Given the description of an element on the screen output the (x, y) to click on. 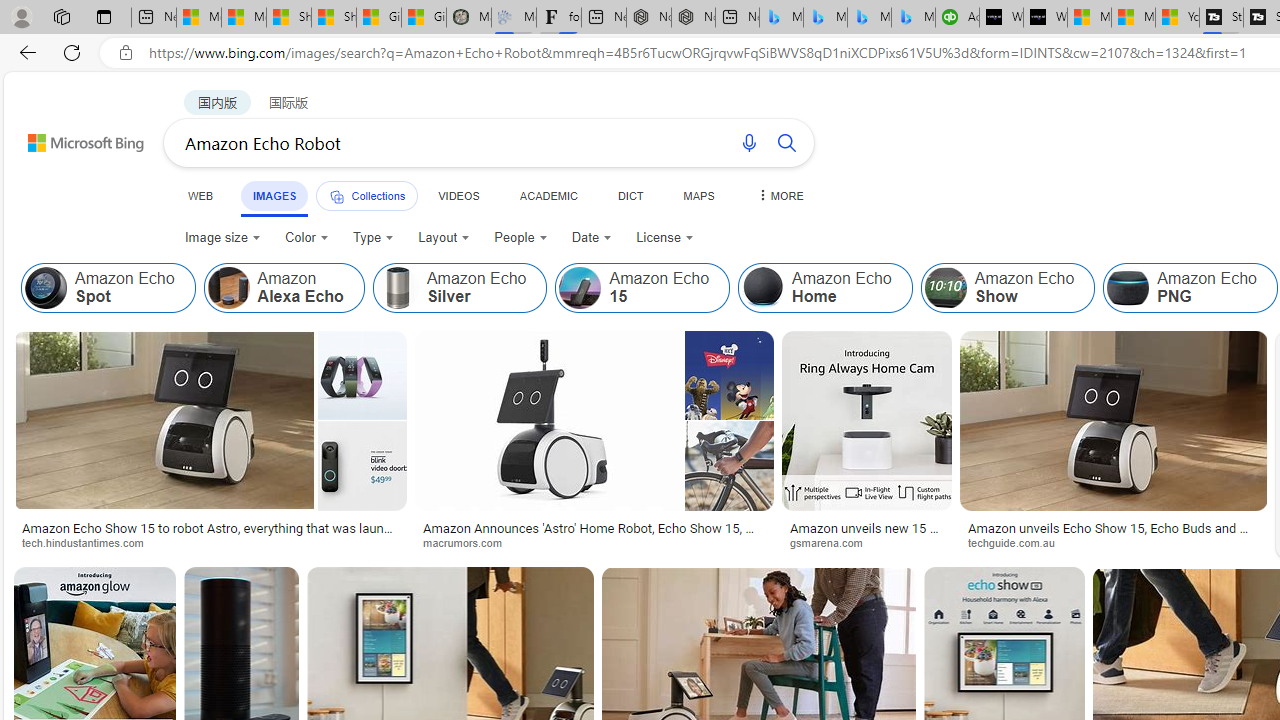
Image size (222, 237)
Streaming Coverage | T3 (1220, 17)
Amazon Echo Spot (45, 287)
MAPS (698, 195)
Amazon Echo 15 (642, 287)
Amazon Echo Home (763, 287)
Back to Bing search (73, 138)
DICT (630, 195)
Dropdown Menu (779, 195)
